Given the description of an element on the screen output the (x, y) to click on. 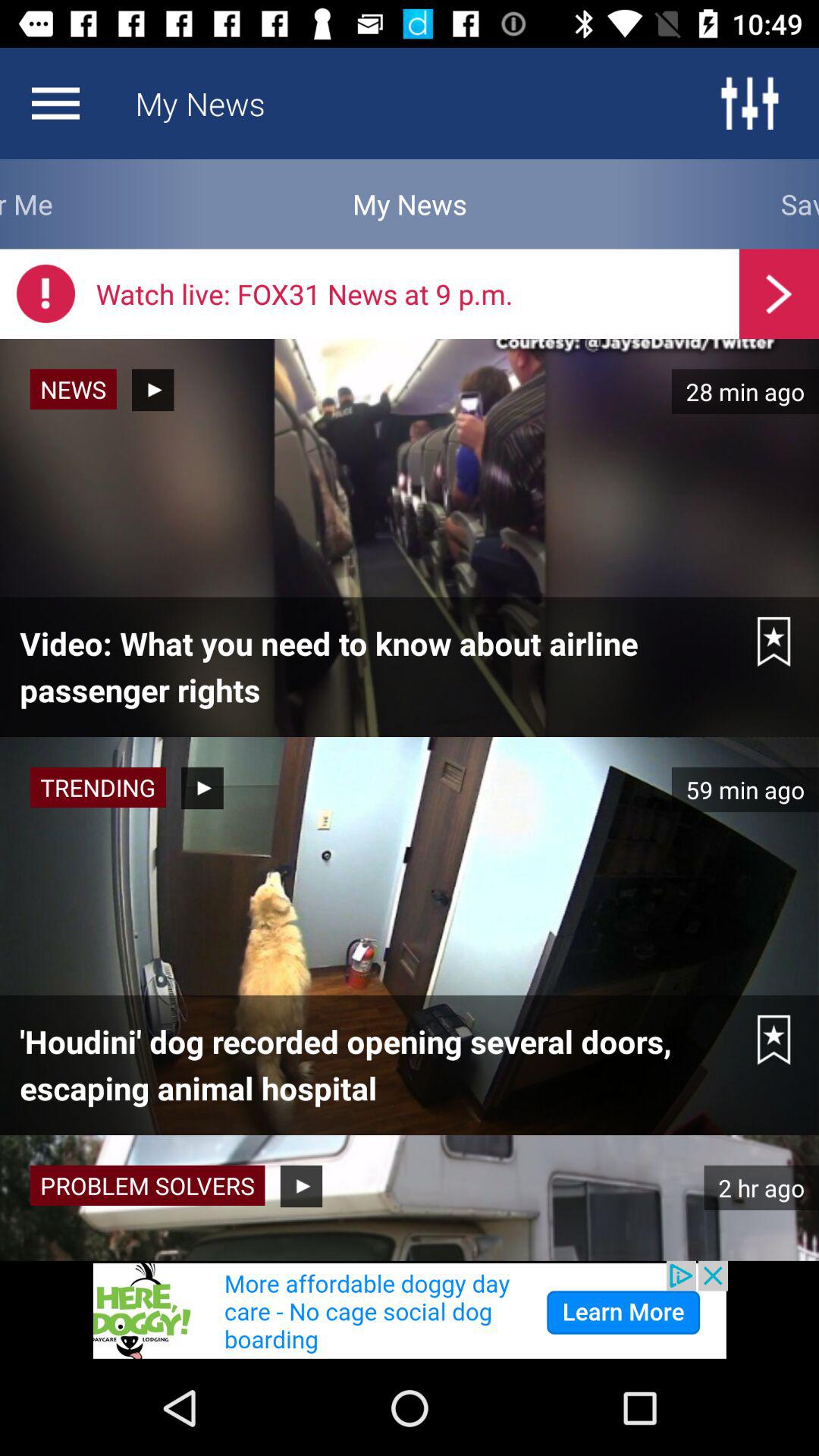
menu button (55, 103)
